Given the description of an element on the screen output the (x, y) to click on. 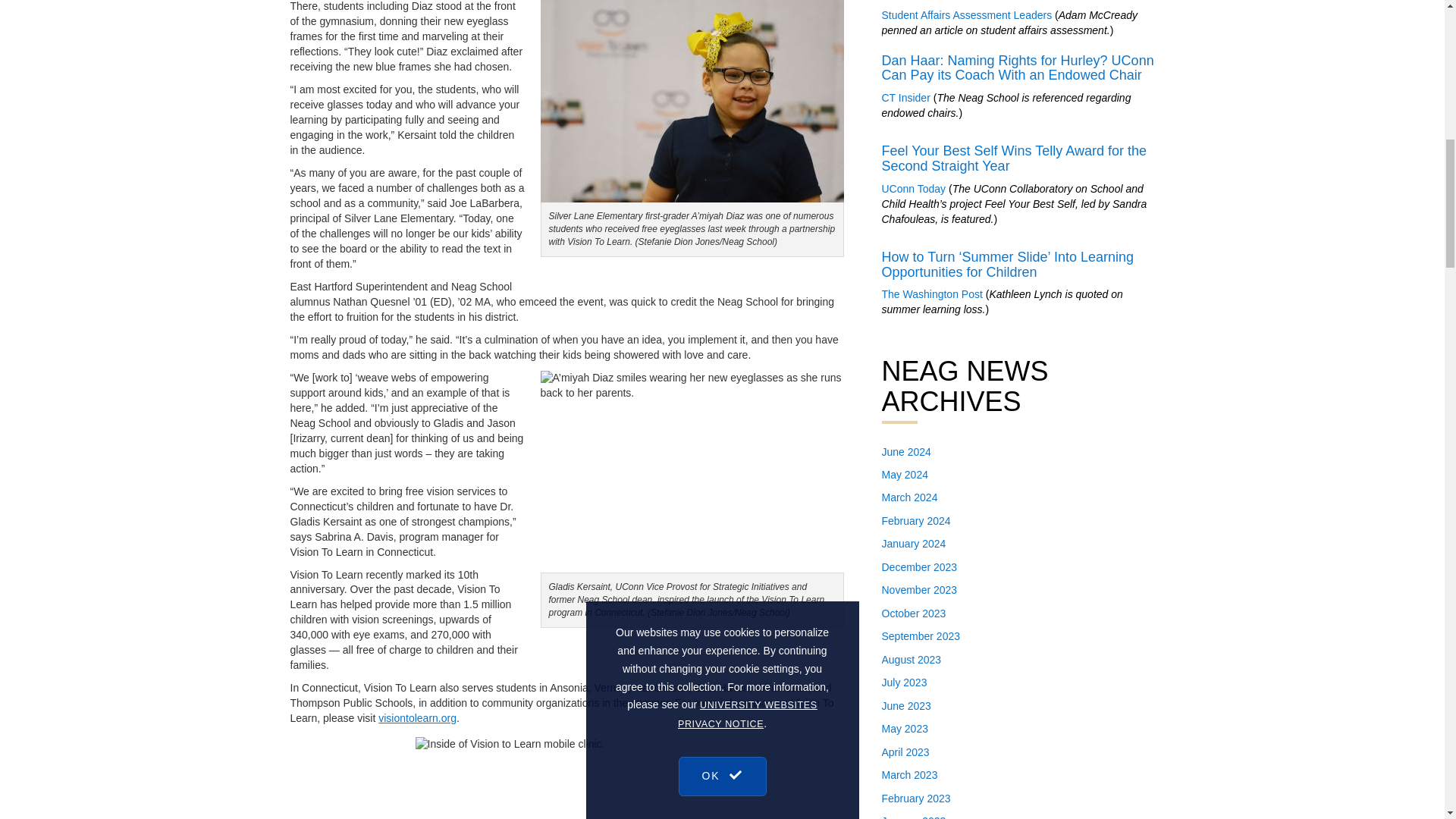
OK (721, 48)
UNIVERSITY WEBSITES PRIVACY NOTICE (747, 7)
